Given the description of an element on the screen output the (x, y) to click on. 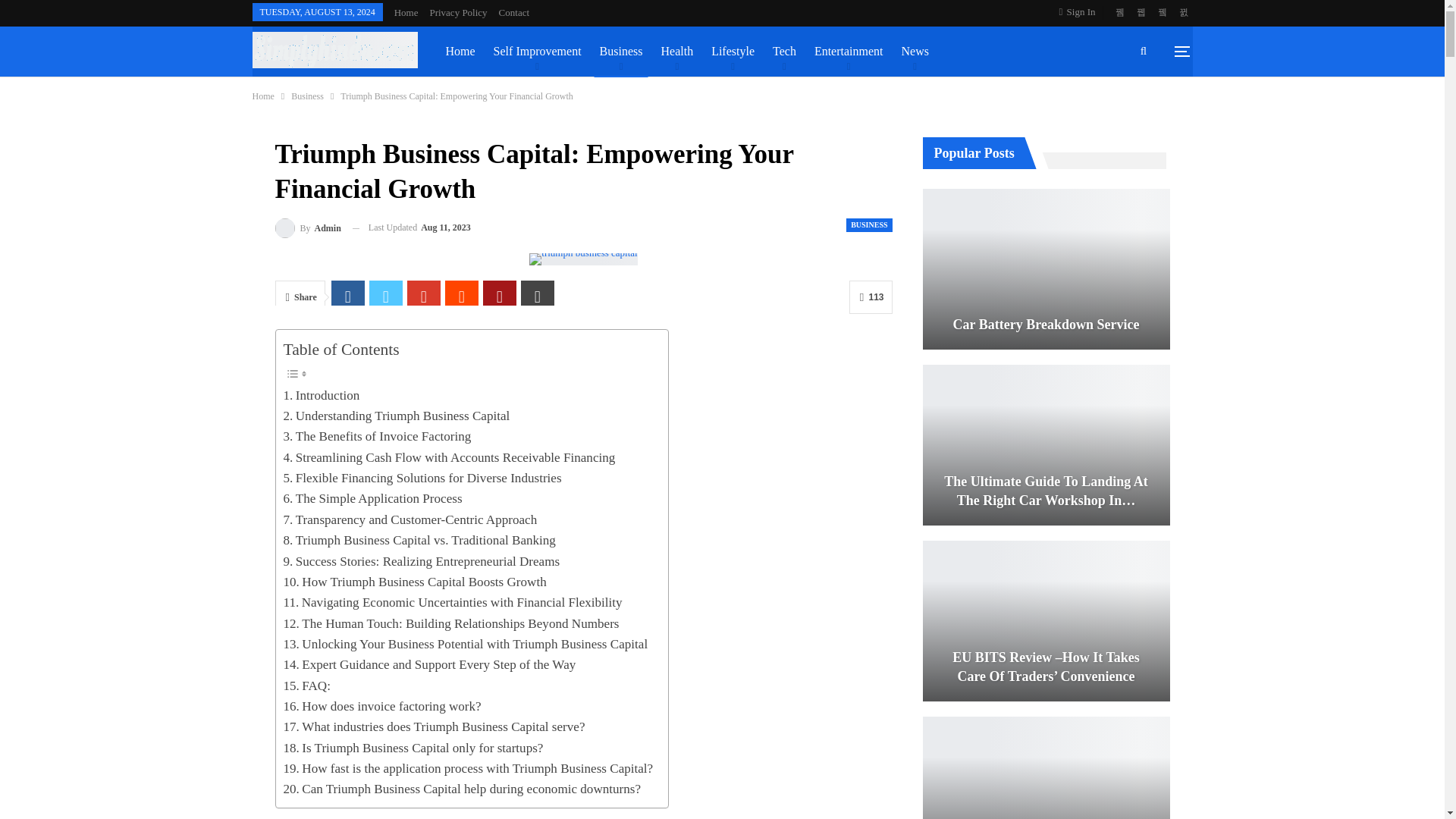
Privacy Policy (457, 12)
Sign In (1080, 12)
Business (620, 51)
Contact (514, 12)
Home (406, 12)
Success Stories: Realizing Entrepreneurial Dreams (421, 561)
Navigating Economic Uncertainties with Financial Flexibility (453, 602)
The Human Touch: Building Relationships Beyond Numbers (451, 623)
The Simple Application Process (373, 498)
